Given the description of an element on the screen output the (x, y) to click on. 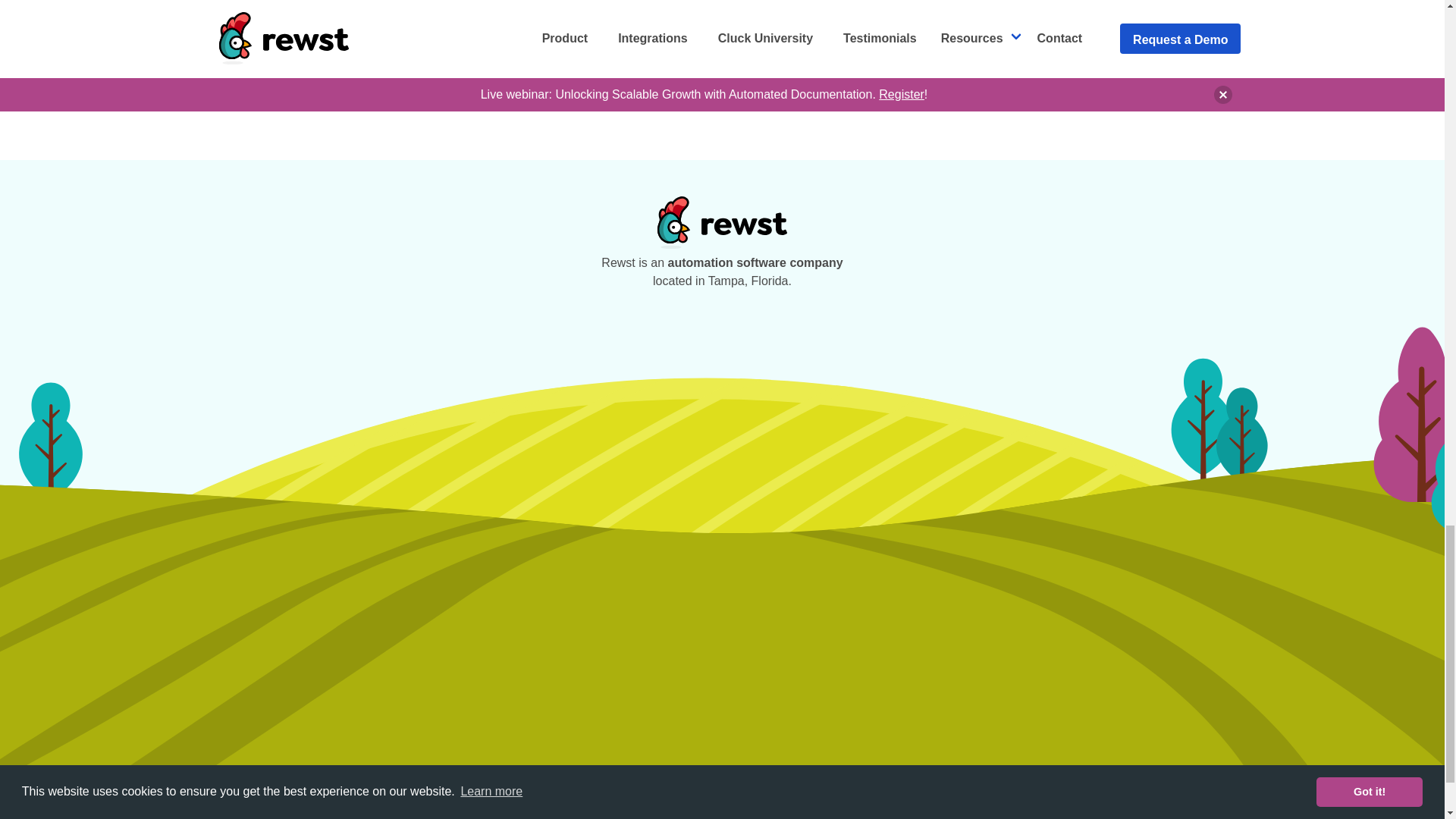
Unlocking Scalable MSP Growth with Automated Documentation (1000, 67)
YouTube (424, 67)
